Given the description of an element on the screen output the (x, y) to click on. 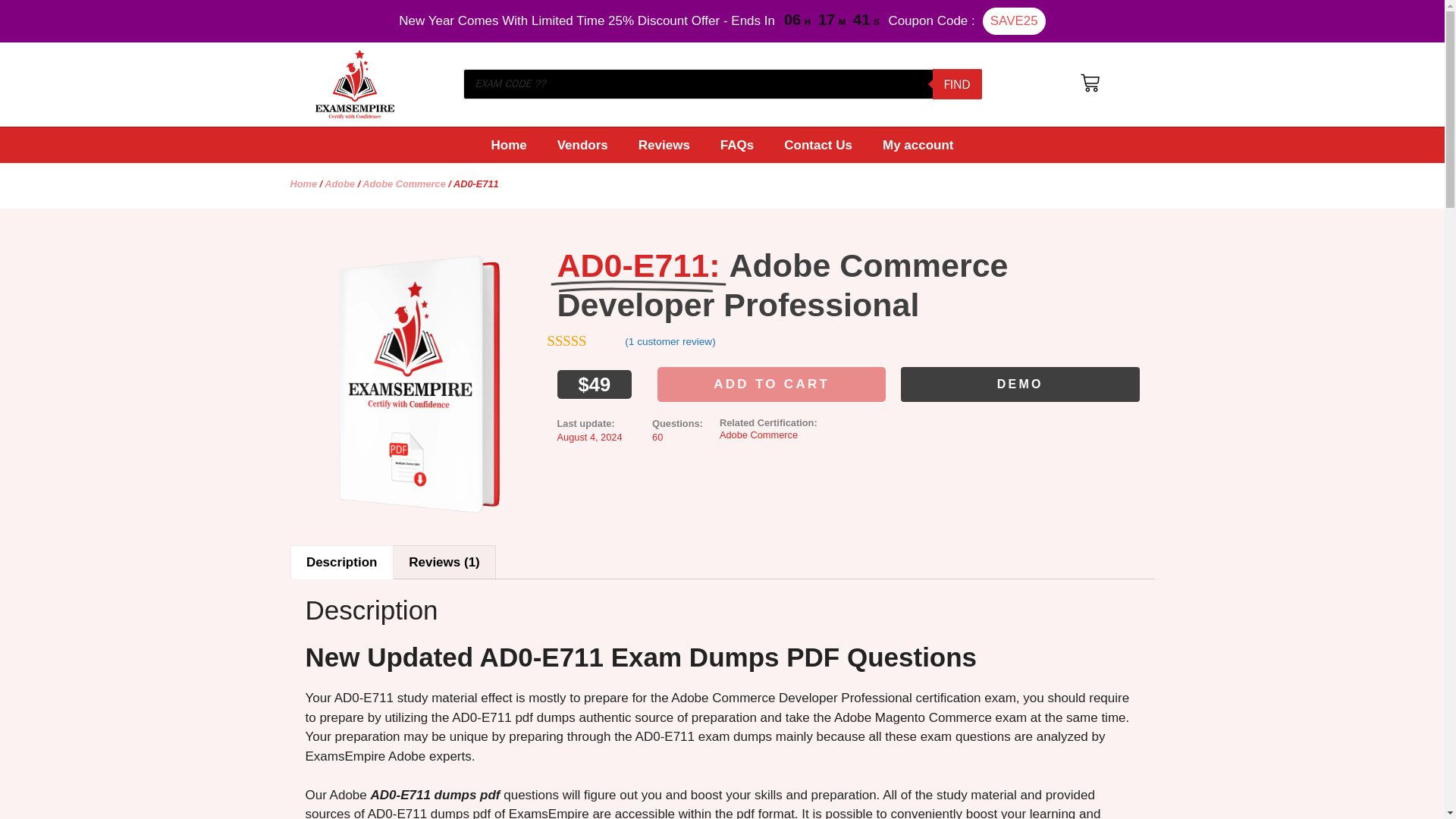
My account (918, 144)
Reviews (663, 144)
DEMO (1020, 384)
Adobe Commerce (403, 183)
Rated 5.00 out of 5 (585, 341)
Adobe (339, 183)
Description (342, 562)
Home (303, 183)
Home (508, 144)
FIND (957, 83)
